Given the description of an element on the screen output the (x, y) to click on. 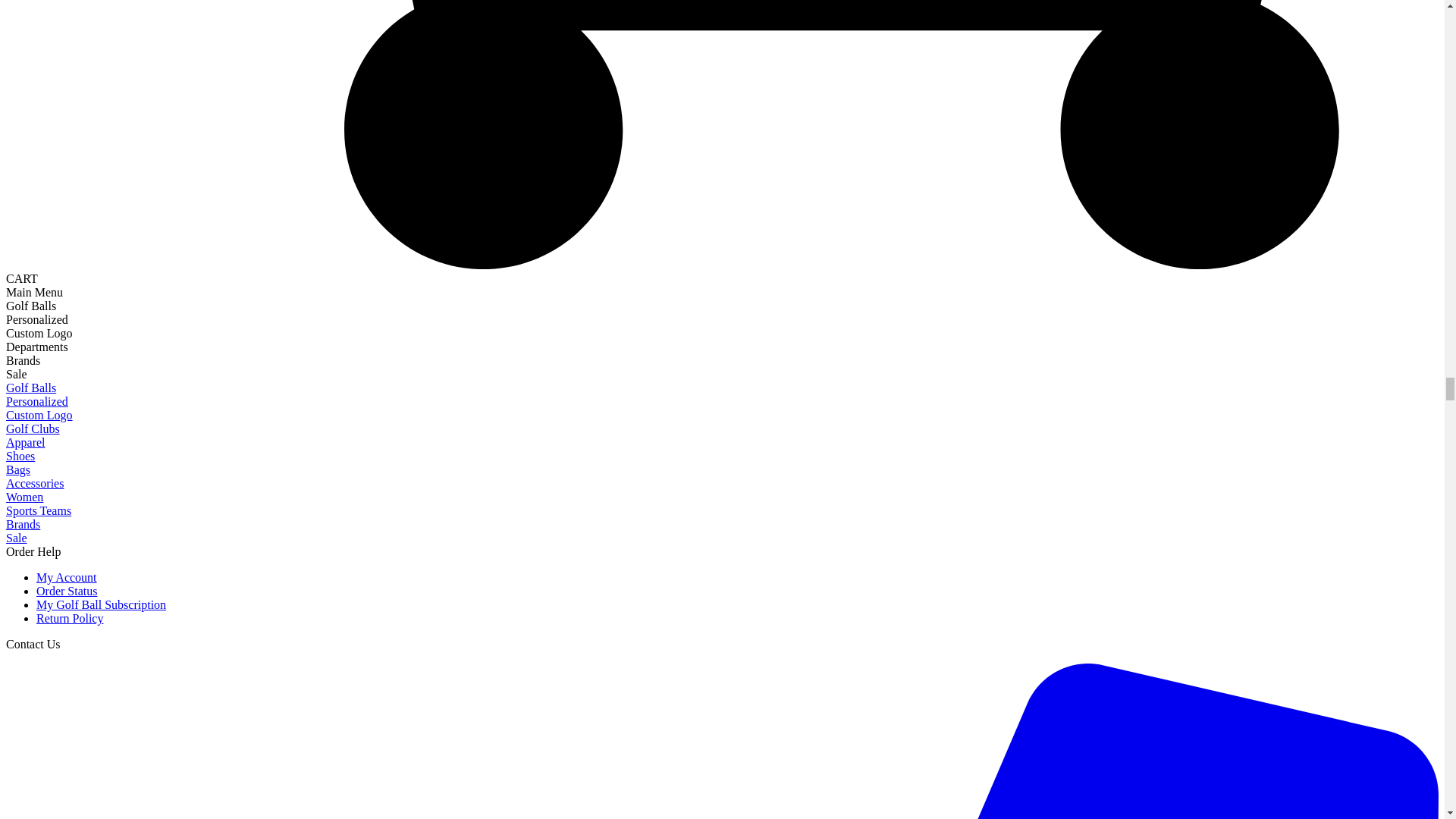
Personalized (36, 400)
Personalized (36, 318)
Sale (16, 373)
Custom Logo (38, 414)
Return Policy (69, 617)
Sports Teams (38, 510)
My Account (66, 576)
Shoes (19, 455)
Order Status (66, 590)
Golf Clubs (32, 428)
Brands (22, 523)
Women (24, 496)
Custom Logo (38, 332)
Golf Balls (30, 305)
Brands (22, 359)
